Given the description of an element on the screen output the (x, y) to click on. 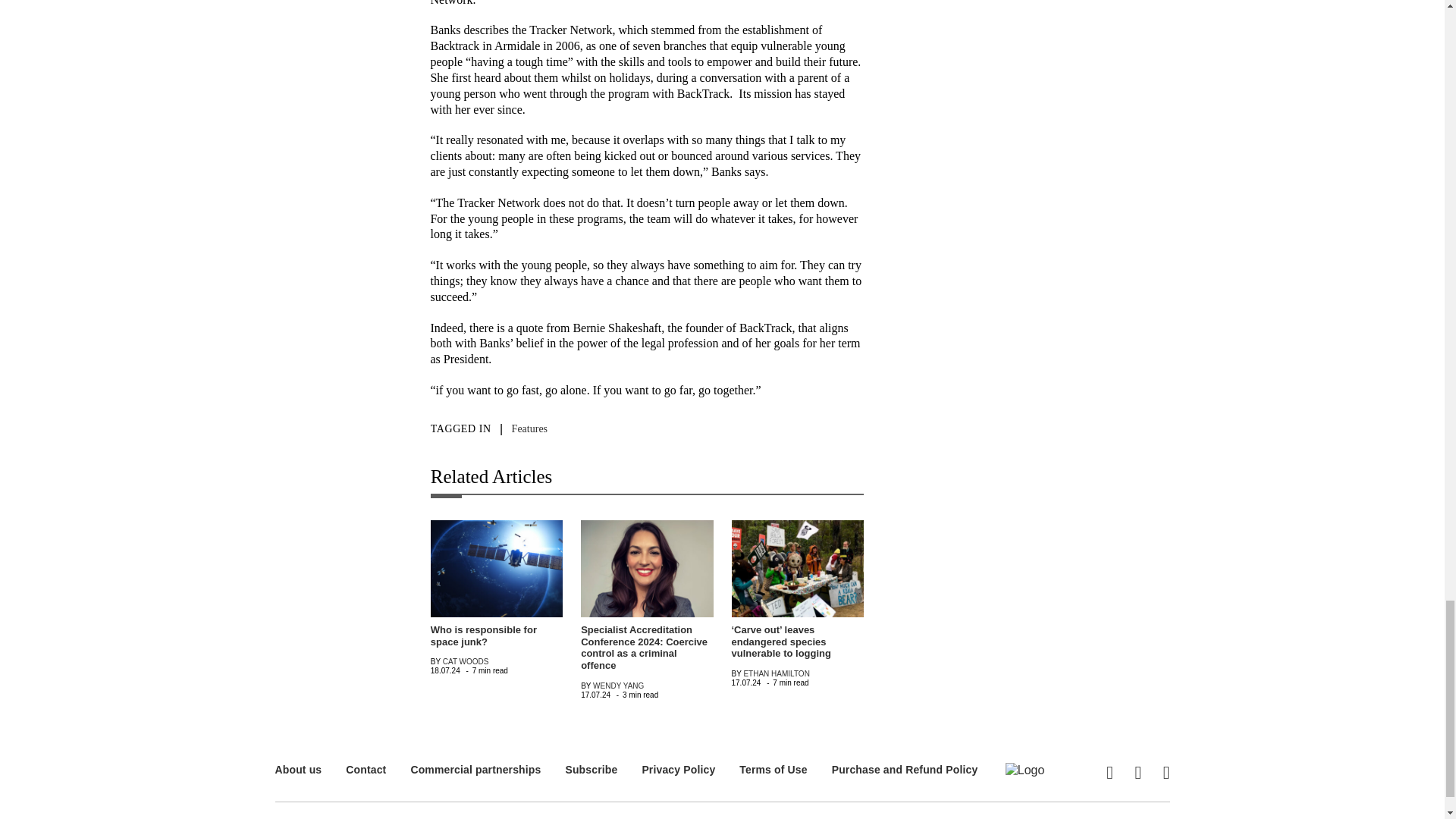
Posts by Cat Woods (465, 661)
Posts by Wendy Yang (617, 685)
Posts by Ethan Hamilton (775, 673)
